Given the description of an element on the screen output the (x, y) to click on. 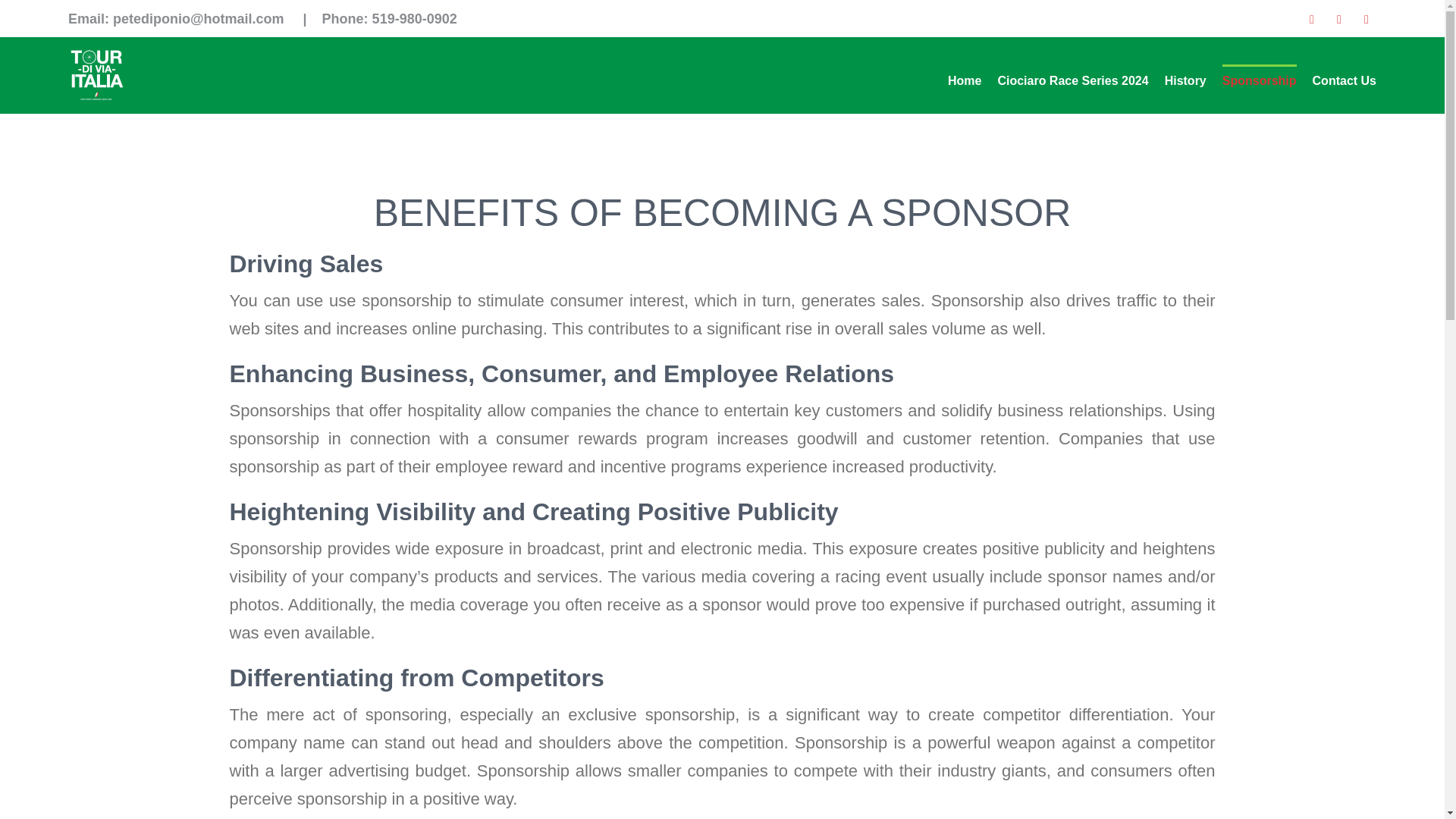
Instagram (1365, 19)
Home (964, 79)
Contact Us (1344, 79)
History (1185, 79)
Facebook (1311, 19)
Sponsorship (1260, 79)
Twitter (1339, 19)
Twitter (1339, 19)
Ciociaro Race Series 2024 (1072, 79)
Facebook (1311, 19)
